Given the description of an element on the screen output the (x, y) to click on. 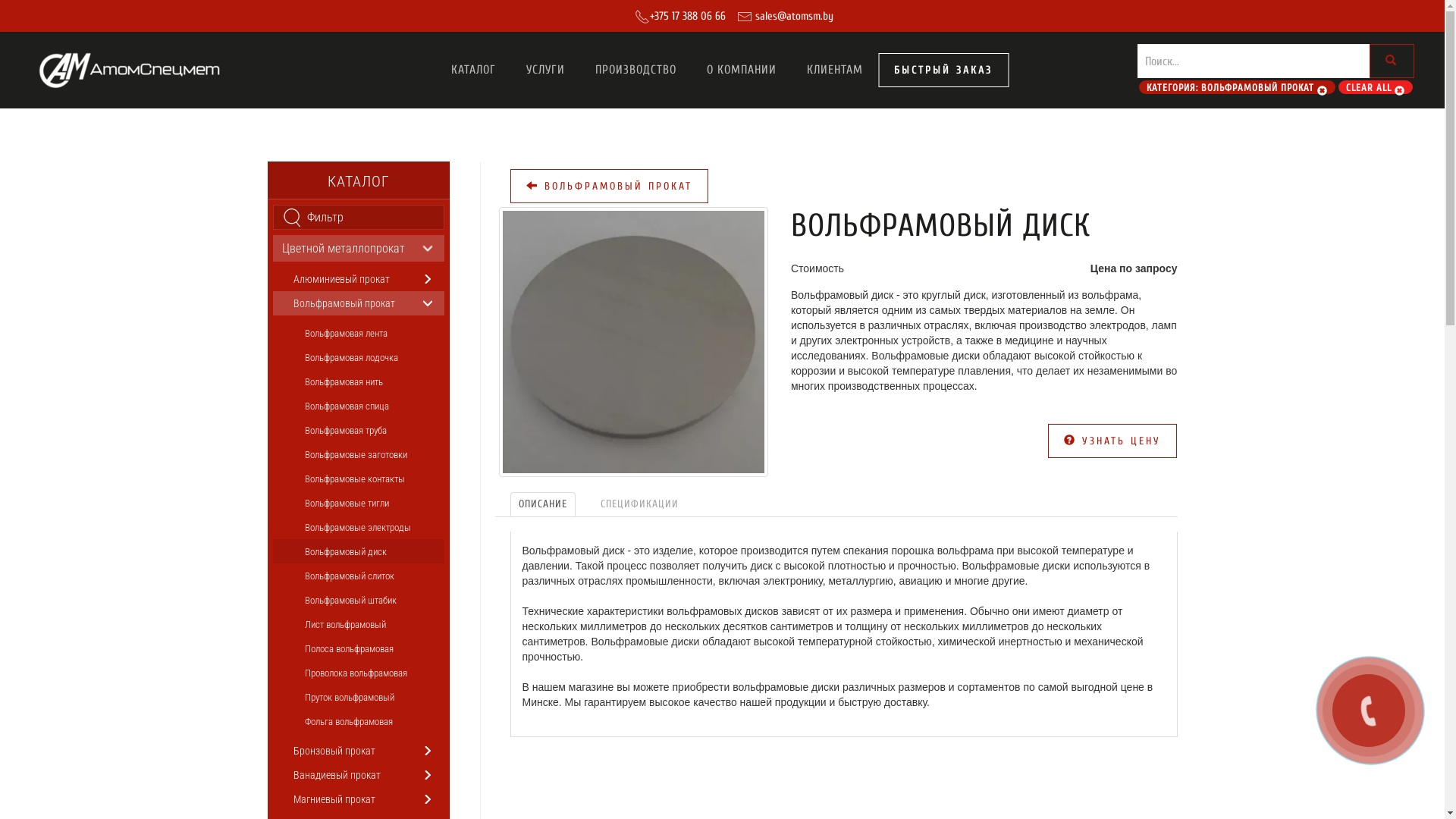
+375 17 388 06 66 Element type: text (686, 15)
sales@atomsm.by Element type: text (792, 15)
CLEAR ALL Element type: text (1375, 87)
